Given the description of an element on the screen output the (x, y) to click on. 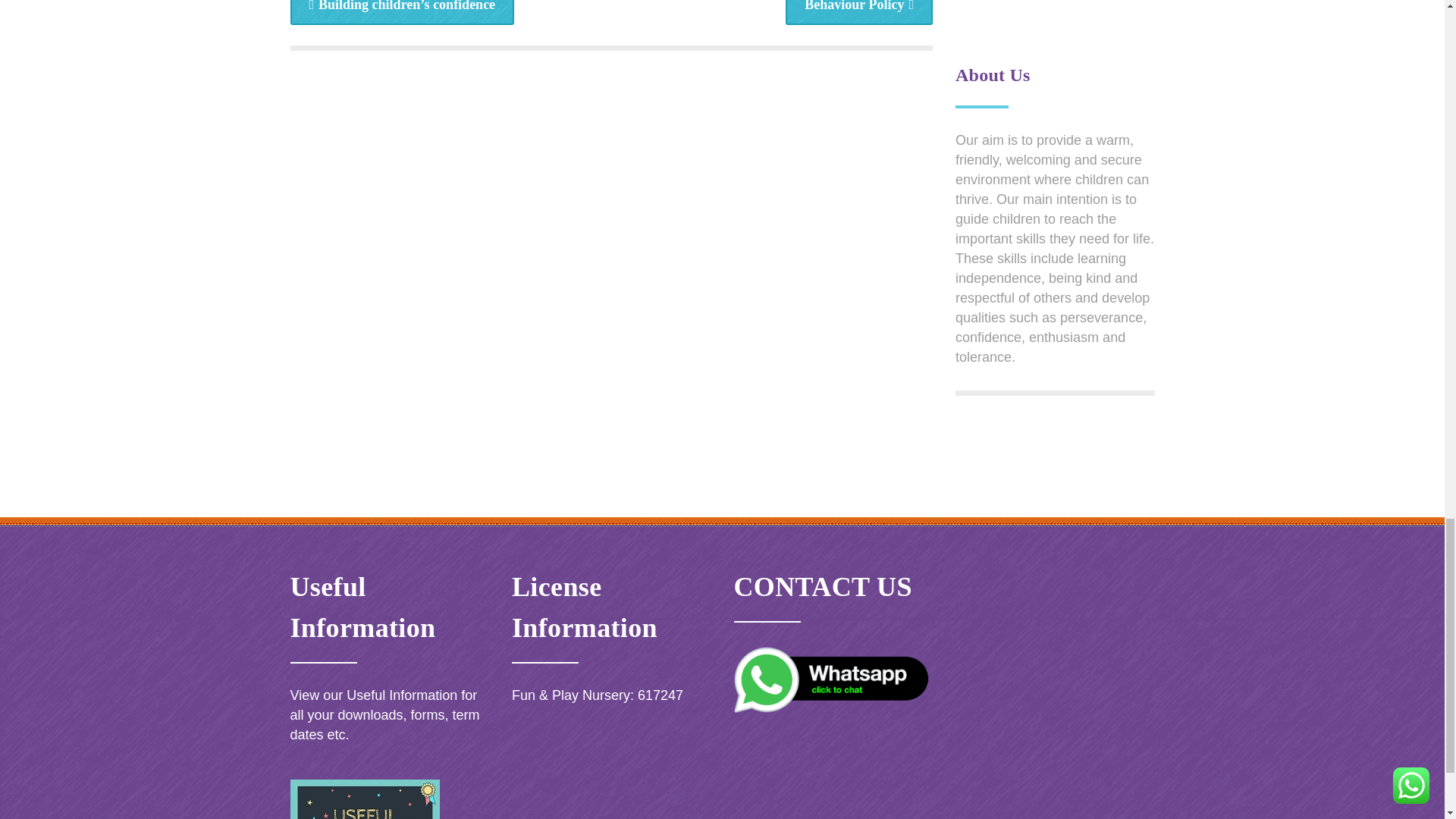
Behaviour Policy (859, 12)
